Given the description of an element on the screen output the (x, y) to click on. 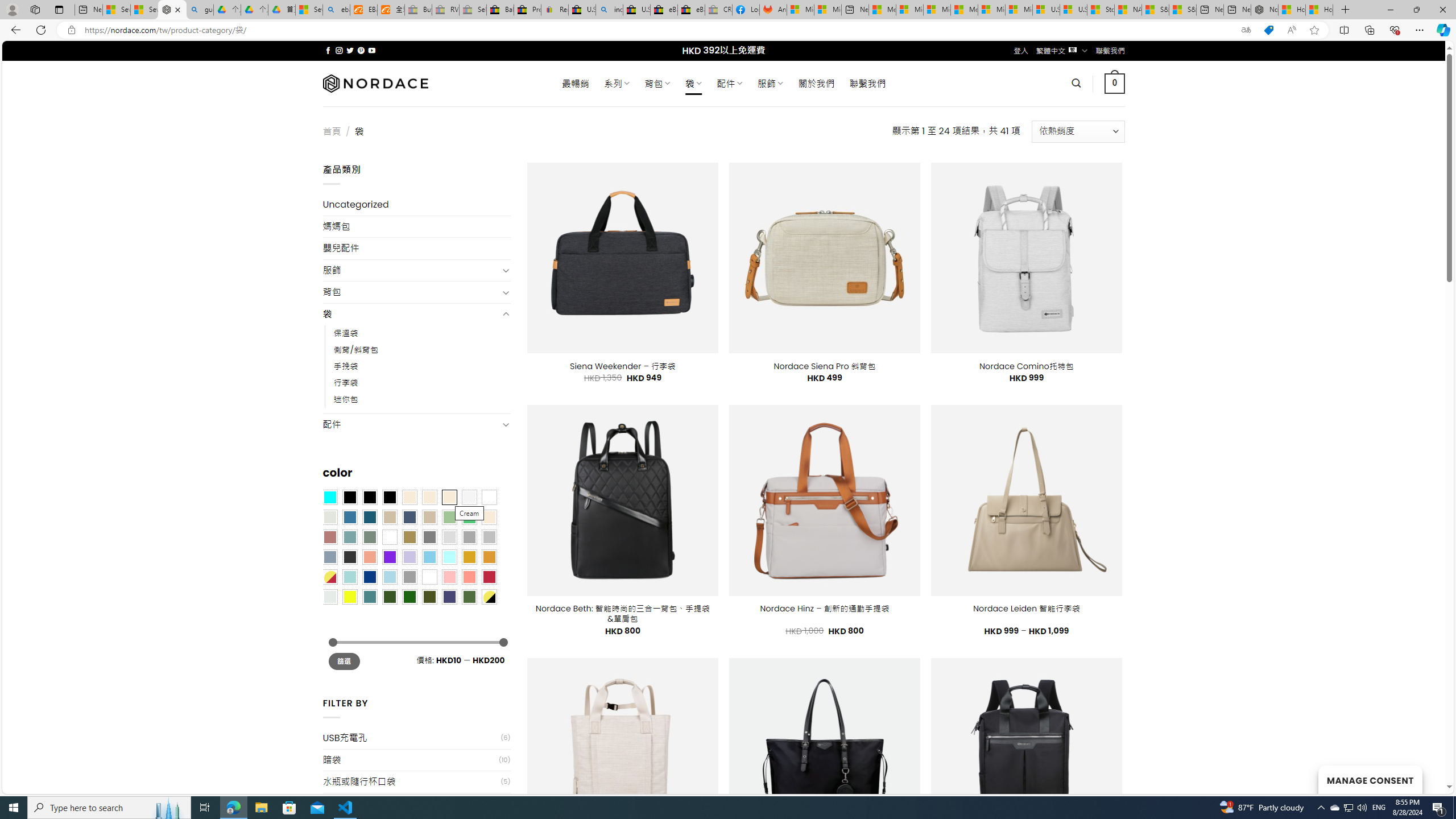
Uncategorized (416, 204)
